Given the description of an element on the screen output the (x, y) to click on. 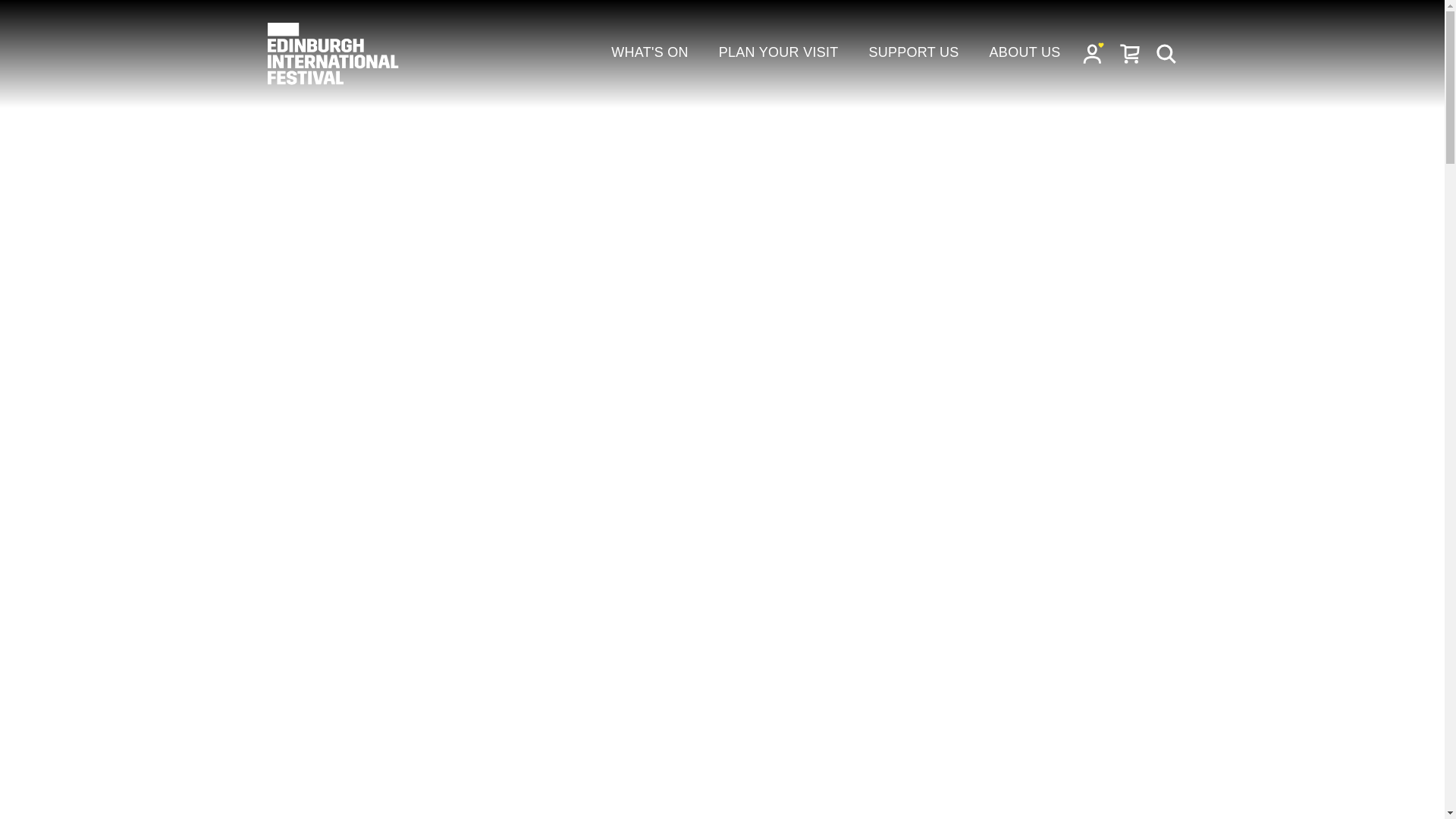
SUPPORT US (914, 52)
WHAT'S ON (649, 52)
Account (1093, 52)
Search (1166, 52)
Basket (1129, 52)
ABOUT US (1025, 52)
EDINBURGH INTERNATIONAL FESTIVAL (332, 53)
PLAN YOUR VISIT (778, 52)
